Given the description of an element on the screen output the (x, y) to click on. 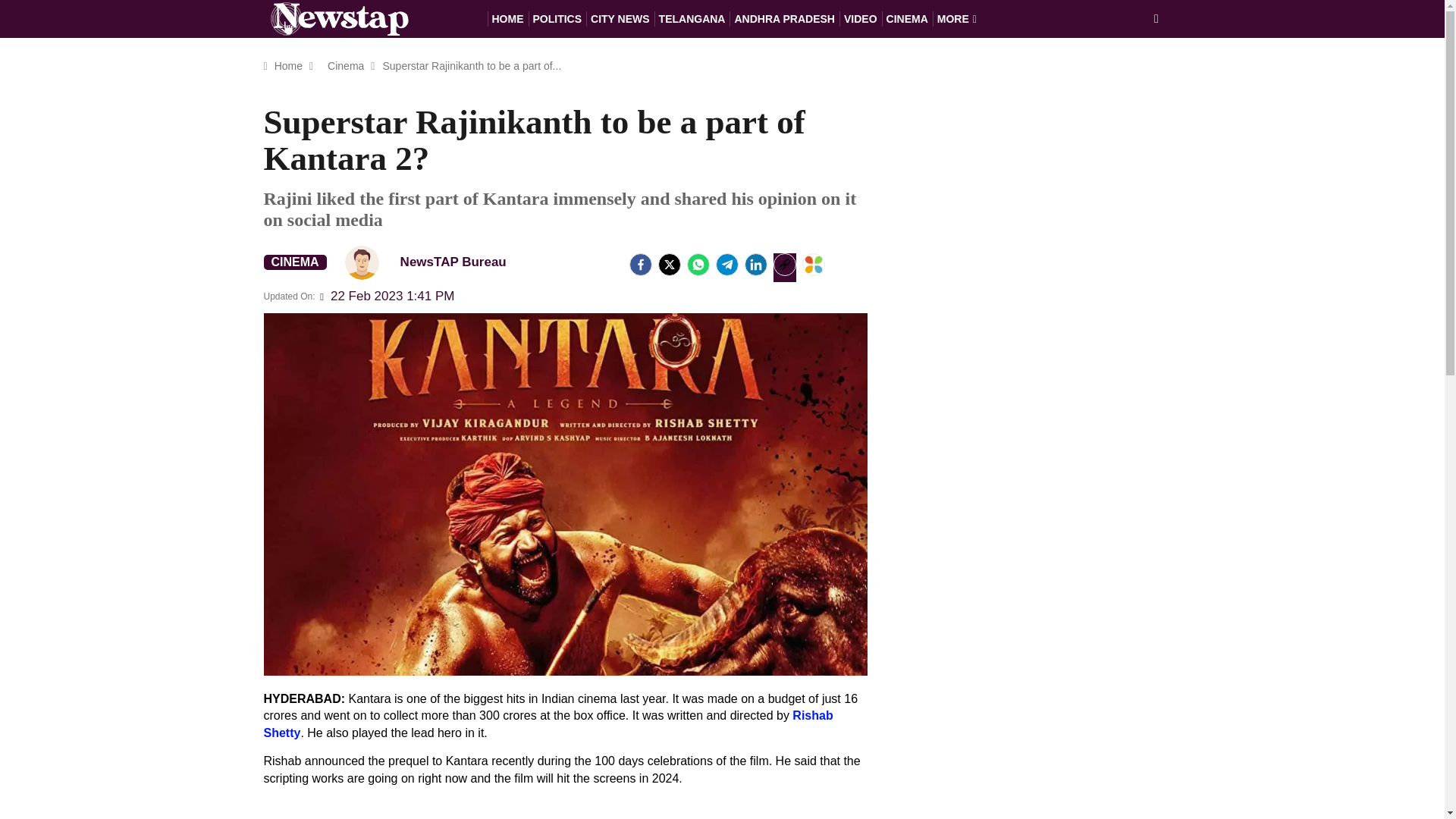
NewsTAP Bureau (361, 262)
CITY NEWS (619, 18)
CINEMA (294, 262)
NewsTAP Bureau (432, 261)
VIDEO (861, 18)
Cinema (345, 65)
MORE (957, 18)
Home (287, 65)
POLITICS (556, 18)
CINEMA (907, 18)
LinkedIn (755, 264)
ANDHRA PRADESH (784, 18)
HOME (506, 18)
TELANGANA (691, 18)
